Given the description of an element on the screen output the (x, y) to click on. 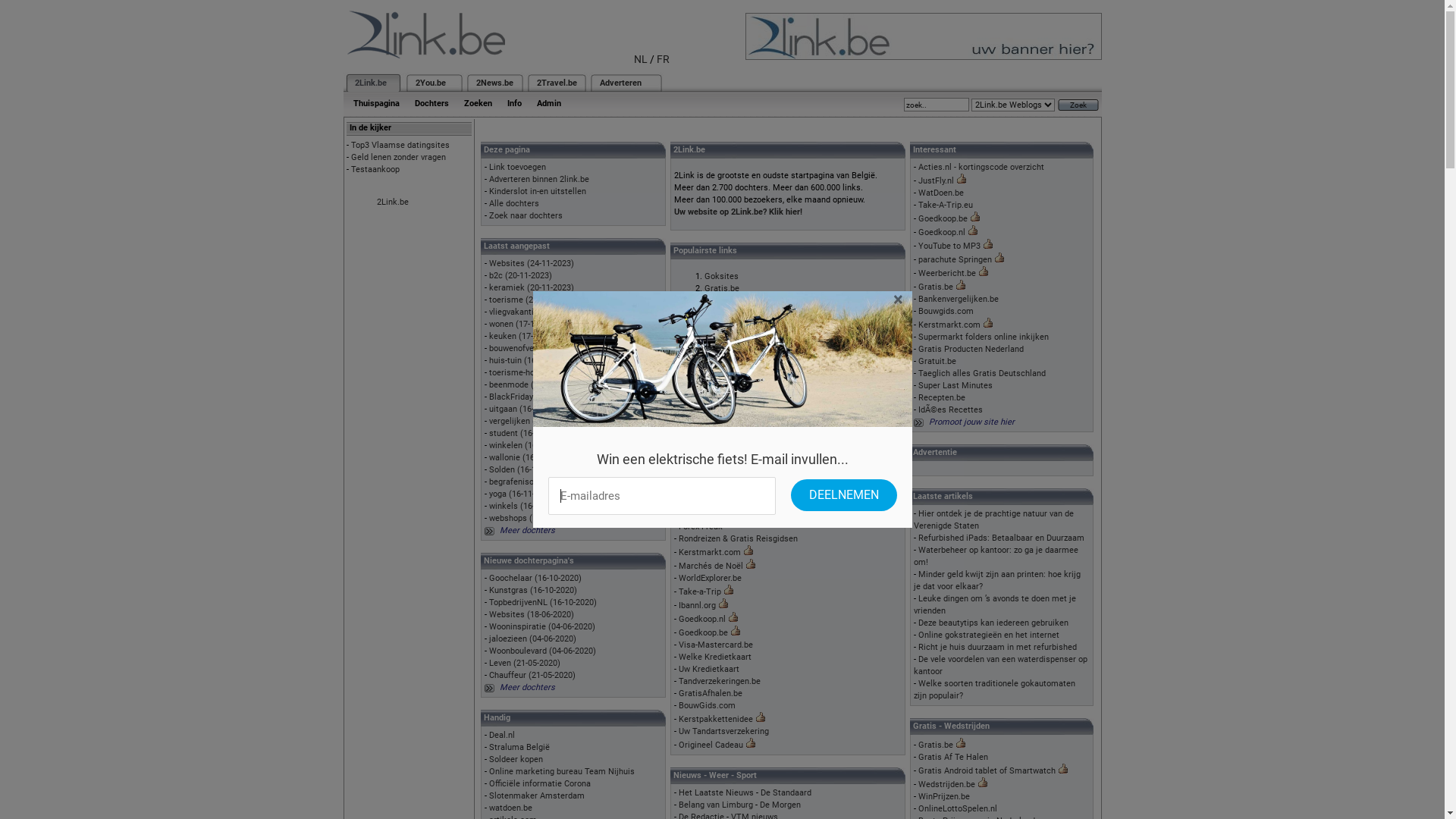
Supermarkt folders online inkijken Element type: text (983, 337)
Goedkoop.nl Element type: text (941, 232)
Gratis.be Element type: text (721, 288)
Vergelijk brandstofprijzen Element type: text (752, 373)
uitgaan (16-11-2023) Element type: text (526, 409)
Gratis Af Te Halen Element type: text (953, 757)
Huisverduurzaming.nl Element type: text (719, 453)
2Travel.be Element type: text (556, 82)
Belang van Limburg Element type: text (715, 804)
Welke Kredietkaart Element type: text (714, 657)
Online marketing bureau Team Nijhuis Element type: text (560, 771)
Kunstgras (16-10-2020) Element type: text (532, 590)
Dochters Element type: text (430, 103)
Origineel Cadeau Element type: text (710, 744)
Taeglich alles Gratis Deutschland Element type: text (981, 373)
Alle dochters Element type: text (513, 203)
Take-A-Trip.eu Element type: text (945, 205)
2dehands.be Element type: text (728, 300)
Soldeer kopen Element type: text (515, 759)
Zoek Element type: text (1077, 103)
watdoen.be Element type: text (509, 807)
webshops (16-11-2023) Element type: text (531, 518)
Goedkoop.be Element type: text (703, 632)
BlackFriday (16-11-2023) Element type: text (534, 396)
Zoeken Element type: text (477, 103)
Zoek naar dochters Element type: text (524, 215)
Admin Element type: text (548, 103)
Rondreizen & Gratis Reisgidsen Element type: text (737, 538)
Waterbeheer op kantoor: zo ga je daarmee om! Element type: text (995, 556)
Welke soorten traditionele gokautomaten zijn populair? Element type: text (994, 689)
De vele voordelen van een waterdispenser op kantoor Element type: text (1000, 665)
jaloezieen (04-06-2020) Element type: text (531, 638)
Crypto Casinos Element type: text (706, 490)
Deze beautytips kan iedereen gebruiken Element type: text (993, 622)
Uw Tandartsverzekering Element type: text (723, 731)
Spaarvarken Element type: text (701, 502)
NL Element type: text (640, 59)
FR Element type: text (662, 59)
begrafenisondernemers (16-11-2023) Element type: text (557, 481)
2News.be Element type: text (494, 82)
De Standaard Element type: text (785, 792)
Promoot jouw site hier Element type: text (971, 421)
Uw website op 2Link.be? Klik hier! Element type: text (738, 211)
Wedstrijden.be Element type: text (732, 349)
2You.be Element type: text (430, 82)
toerisme-holland (16-11-2023) Element type: text (544, 372)
Gratis.be Element type: text (935, 286)
Woonboulevard (04-06-2020) Element type: text (541, 650)
Refurbished iPads: Betaalbaar en Duurzaam Element type: text (1001, 537)
Websites (24-11-2023) Element type: text (530, 263)
Goksites Element type: text (721, 276)
toerisme (20-11-2023) Element type: text (529, 299)
Datingsites.be Element type: text (731, 312)
winkels (16-11-2023) Element type: text (527, 506)
Acties.nl - kortingscode overzicht Element type: text (981, 167)
Postorder.be Element type: text (702, 465)
Super Last Minutes Element type: text (955, 385)
OnlineLottoSpelen.nl Element type: text (957, 808)
WatDoen.be Element type: text (940, 192)
WinPrijzen.be Element type: text (943, 796)
2Link.be Element type: text (370, 82)
Tandverzekeringen.be Element type: text (719, 681)
Ibannl.org Element type: text (696, 605)
Thuispagina Element type: text (376, 103)
Visa-Mastercard.be Element type: text (715, 644)
Bankenvergelijken.be Element type: text (958, 299)
Gratis.be Element type: text (935, 744)
Wedstrijden.be Element type: text (946, 784)
Websites (18-06-2020) Element type: text (530, 614)
keramiek (20-11-2023) Element type: text (530, 287)
Richt je huis duurzaam in met refurbished Element type: text (997, 647)
Gratuit.be Element type: text (937, 361)
Kerstmarkt.com Element type: text (709, 552)
Forex Freak Element type: text (700, 526)
Bouwgids.com Element type: text (945, 311)
Meer dochters Element type: text (526, 687)
Goedkoop.nl Element type: text (701, 619)
Kinderslot in-en uitstellen Element type: text (536, 191)
Bouwen.com Element type: text (702, 478)
Kerstpakkettenidee Element type: text (715, 719)
bouwenofverbouwen (17-11-2023) Element type: text (551, 348)
Meer dochters Element type: text (526, 530)
b2c (20-11-2023) Element type: text (519, 275)
Chauffeur (21-05-2020) Element type: text (531, 675)
parachute Springen Element type: text (954, 259)
YouTube to MP3 Element type: text (949, 246)
GratisAfhalen.be Element type: text (710, 693)
huis-tuin (16-11-2023) Element type: text (529, 360)
student (16-11-2023) Element type: text (527, 433)
AliExpress: alles goedkoper uit China Element type: text (774, 361)
vergelijken (16-11-2023) Element type: text (533, 421)
Wonen.Blog Element type: text (700, 514)
Geld lenen zonder vragen Element type: text (397, 157)
wallonie (16-11-2023) Element type: text (528, 457)
JustFly.nl Element type: text (935, 180)
Top3 Vlaamse datingsites Element type: text (399, 145)
Recepten.be Element type: text (941, 397)
Het Laatste Nieuws Element type: text (715, 792)
Kerstmarkt.com Element type: text (949, 324)
BouwGids.com Element type: text (706, 705)
vliegvakantie (20-11-2023) Element type: text (537, 311)
Adverteren binnen 2link.be Element type: text (538, 179)
Uw Kredietkaart Element type: text (708, 669)
WorldExplorer.be Element type: text (709, 578)
Testaankoop Element type: text (374, 169)
keuken (17-11-2023) Element type: text (526, 336)
yoga (16-11-2023) Element type: text (521, 493)
Link toevoegen Element type: text (516, 167)
wonen (17-11-2023) Element type: text (524, 324)
Weerbericht.be Element type: text (946, 273)
Goochelaar (16-10-2020) Element type: text (534, 578)
Goedkoop.be Element type: text (942, 218)
Gratis Producten Nederland Element type: text (970, 349)
Nadia.be Element type: text (695, 441)
Solden (16-11-2023) Element type: text (525, 469)
Adverteren Element type: text (619, 82)
2Link.be Element type: text (391, 202)
De Morgen Element type: text (779, 804)
TopbedrijvenNL (16-10-2020) Element type: text (542, 602)
Hier ontdek je de prachtige natuur van de Verenigde Staten Element type: text (993, 519)
Slotenmaker Amsterdam Element type: text (535, 795)
Beursduivel Element type: text (726, 324)
Wooninspiratie (04-06-2020) Element type: text (541, 626)
beenmode (16-11-2023) Element type: text (532, 384)
Goedkoopste leningen vergelijken  Element type: text (769, 385)
Deal.nl Element type: text (501, 735)
Leven (21-05-2020) Element type: text (523, 663)
Take-a-Trip Element type: text (699, 591)
Gratis Android tablet of Smartwatch Element type: text (986, 770)
1001spelletjes.be Element type: text (737, 337)
winkelen (16-11-2023) Element type: text (529, 445)
Info Element type: text (513, 103)
